Given the description of an element on the screen output the (x, y) to click on. 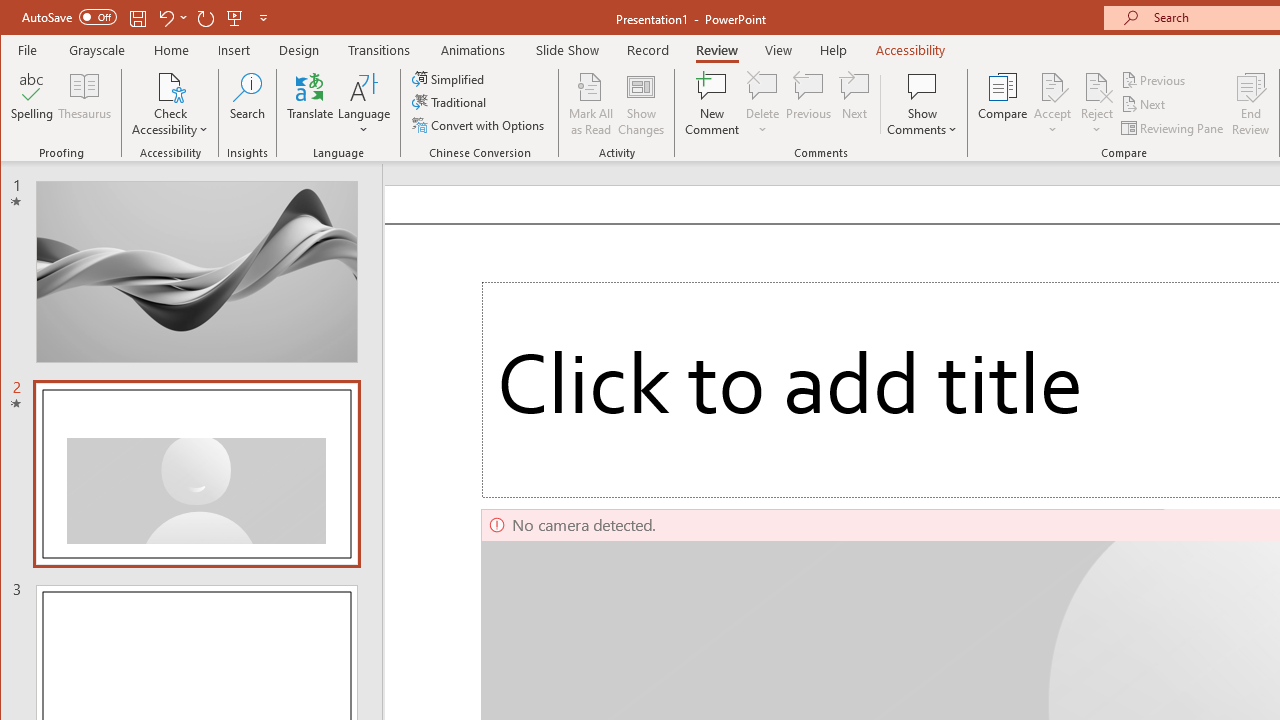
Delete (762, 86)
Grayscale (97, 50)
Translate (310, 104)
Reject Change (1096, 86)
Convert with Options... (479, 124)
Show Comments (922, 86)
